Given the description of an element on the screen output the (x, y) to click on. 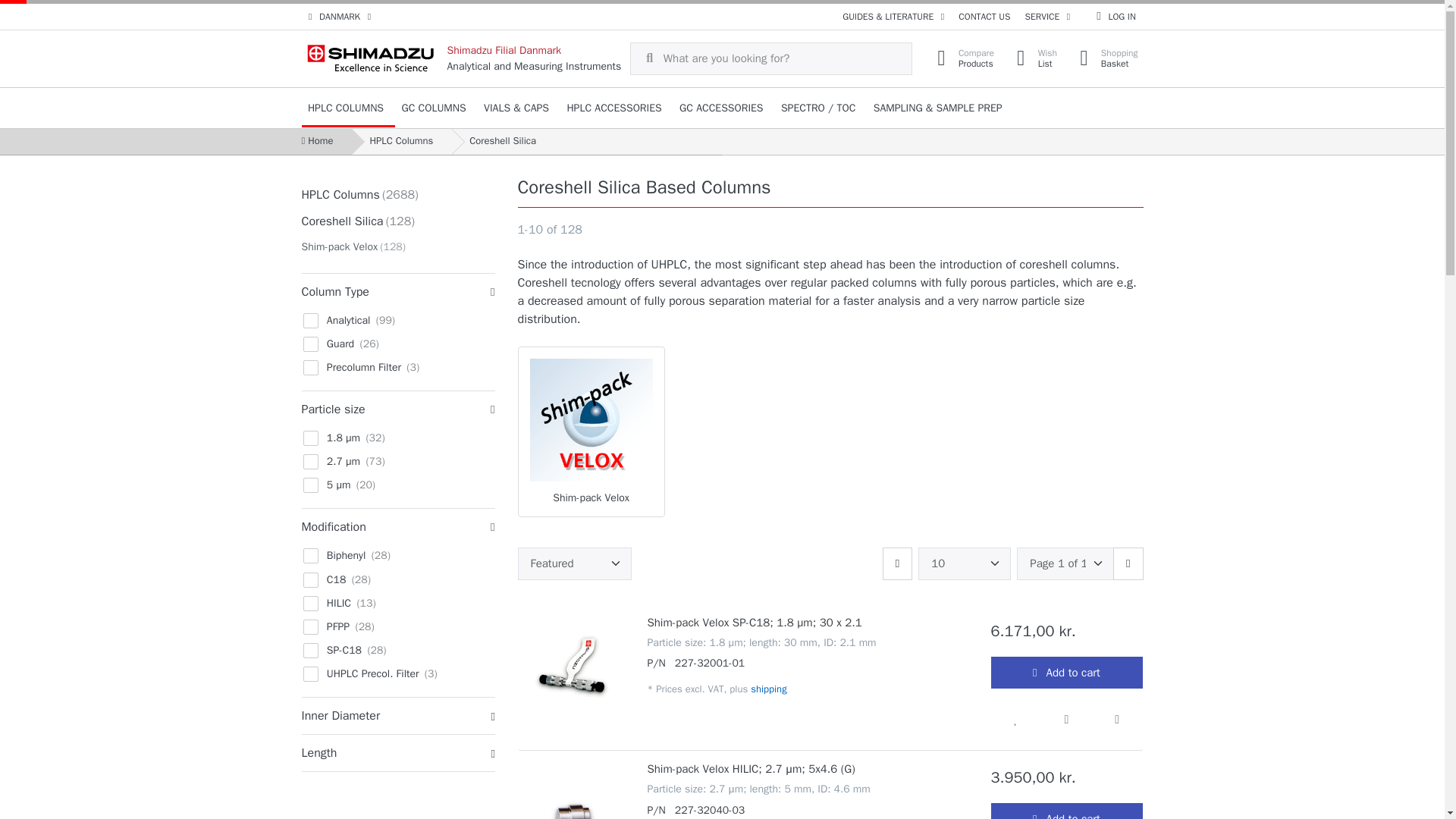
39 (398, 614)
1040 (306, 482)
1023 (306, 601)
1035 (306, 624)
SERVICE (306, 647)
CONTACT US (961, 58)
15 (1047, 16)
